Given the description of an element on the screen output the (x, y) to click on. 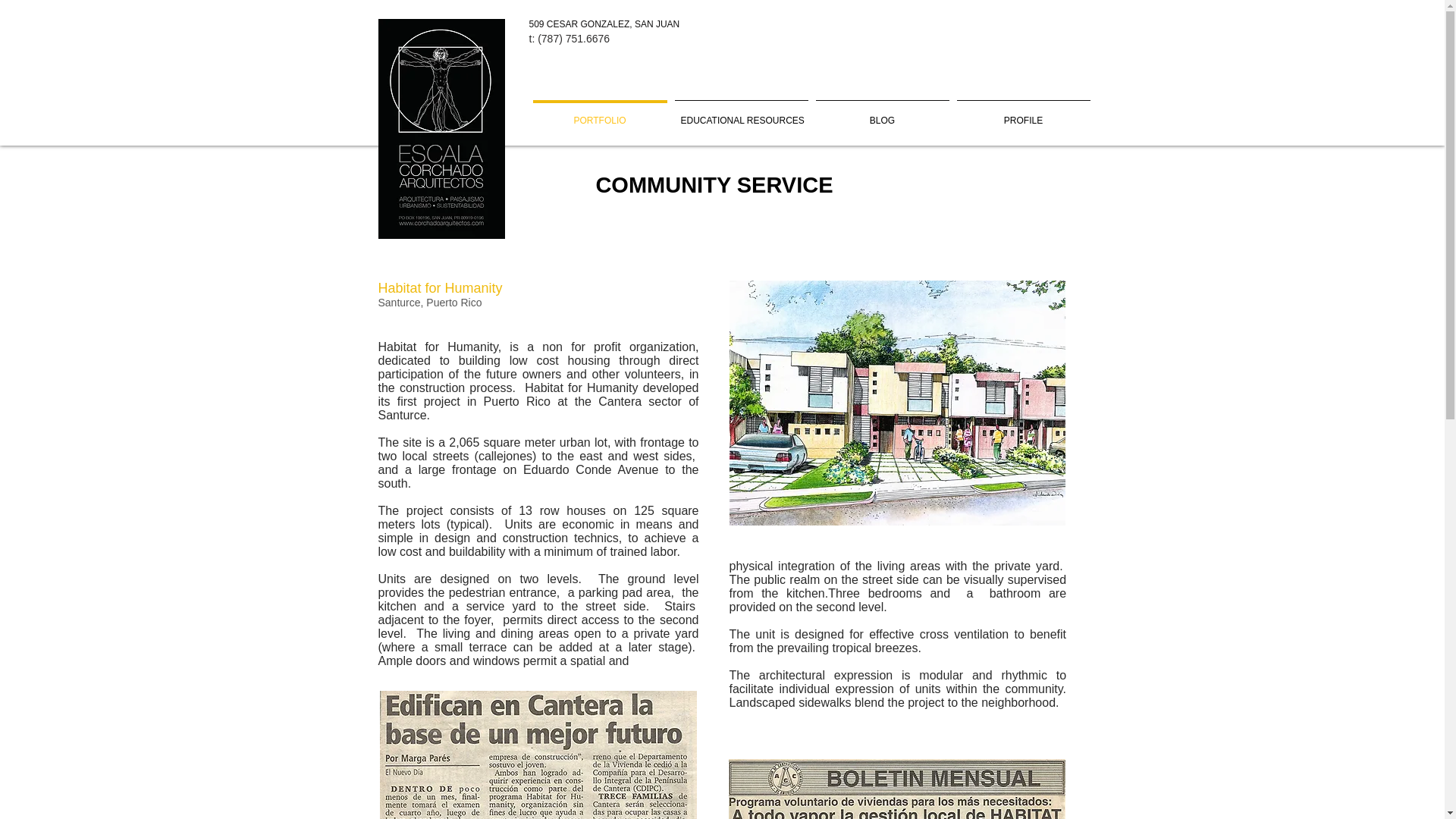
BLOG (881, 113)
EDUCATIONAL RESOURCES (739, 113)
PORTFOLIO (600, 113)
